Given the description of an element on the screen output the (x, y) to click on. 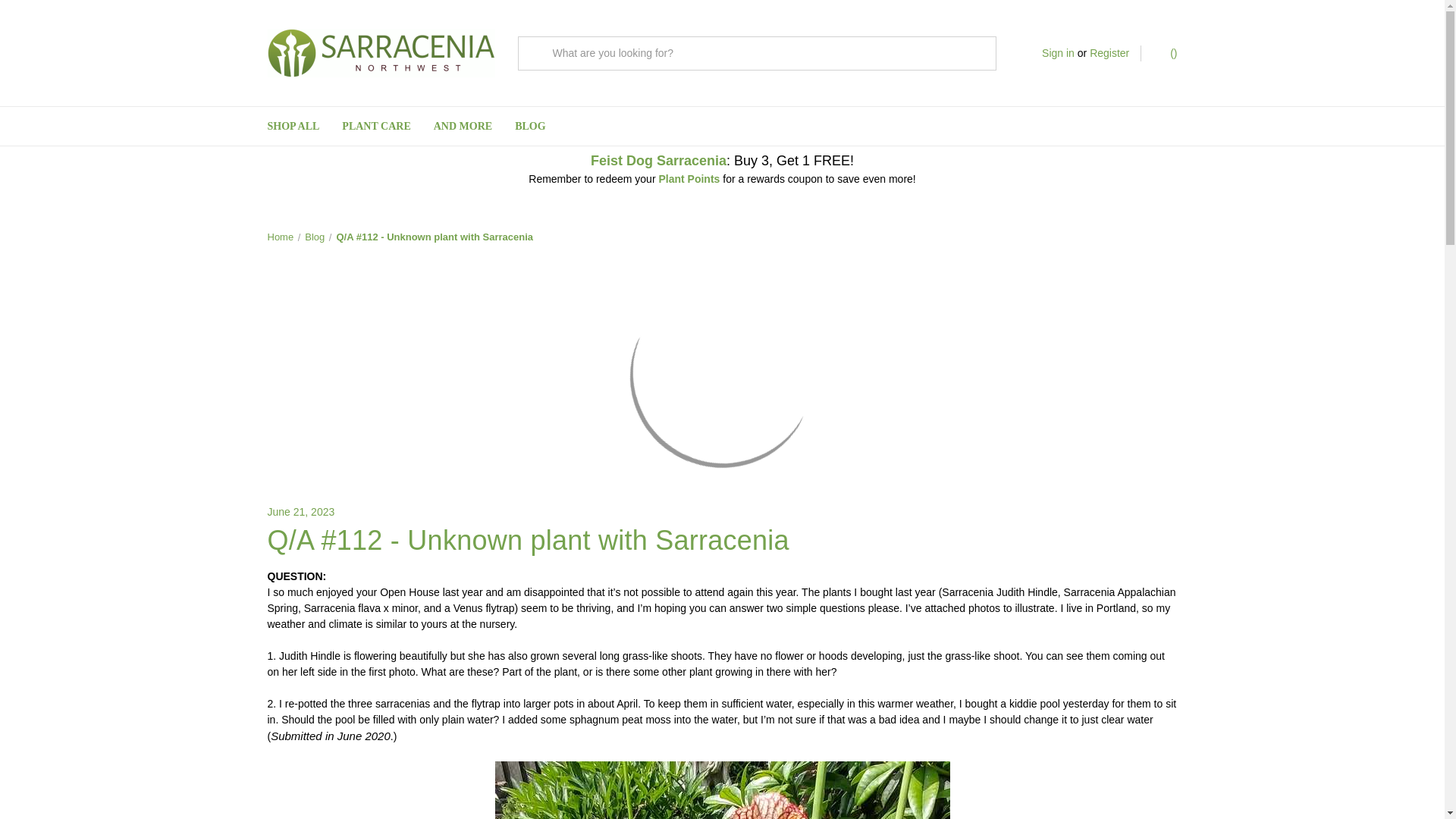
Sarracenia Northwest (380, 52)
Register (1109, 53)
PLANT CARE (376, 126)
SHOP ALL (293, 126)
Sign in (1058, 53)
